Given the description of an element on the screen output the (x, y) to click on. 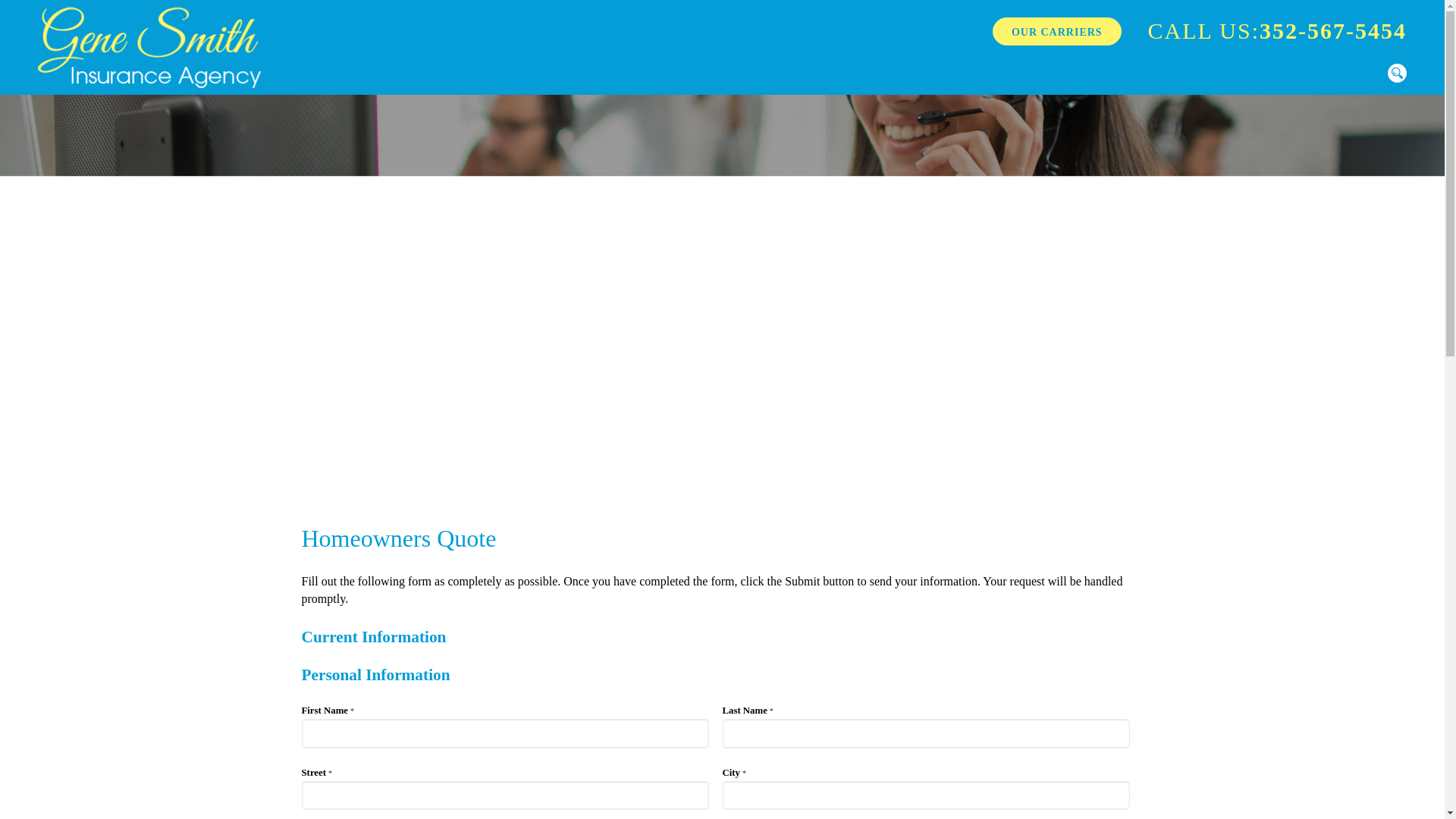
OUR CARRIERS (1056, 31)
GET A QUOTE (1075, 795)
PRODUCTS (981, 795)
ABOUT US (1263, 795)
HOME (905, 795)
CALL US:352-567-5454 (1277, 31)
CONTACT (1345, 795)
RESOURCES (1173, 795)
